Given the description of an element on the screen output the (x, y) to click on. 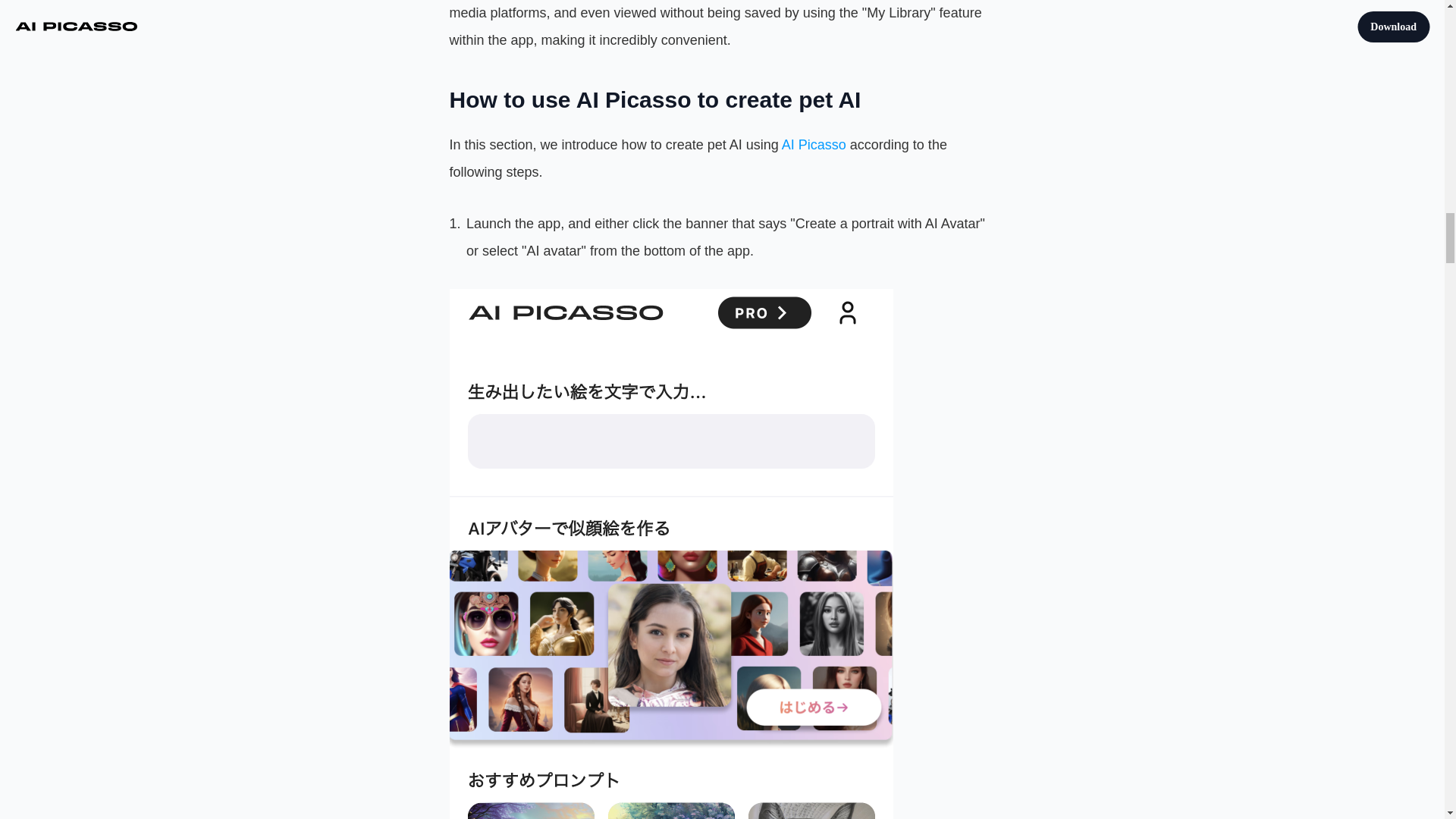
AI Picasso (813, 144)
